Given the description of an element on the screen output the (x, y) to click on. 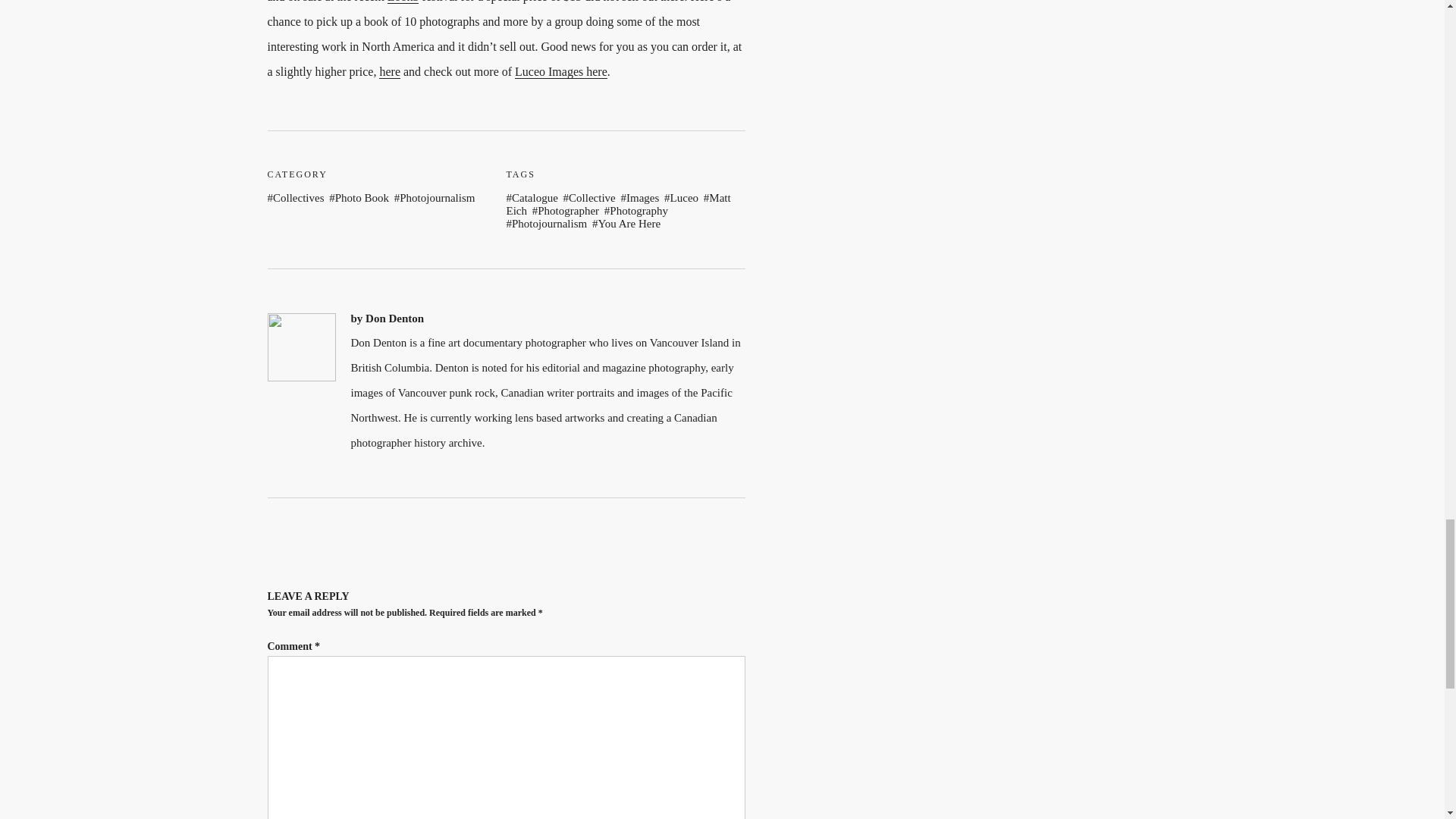
Photography (636, 210)
Look3 (403, 2)
Photojournalism (547, 223)
Collective (590, 197)
Luceo (681, 197)
Photojournalism (435, 197)
Luceo Images (561, 71)
here (389, 71)
Matt Eich (618, 204)
You Are Here (627, 223)
